Given the description of an element on the screen output the (x, y) to click on. 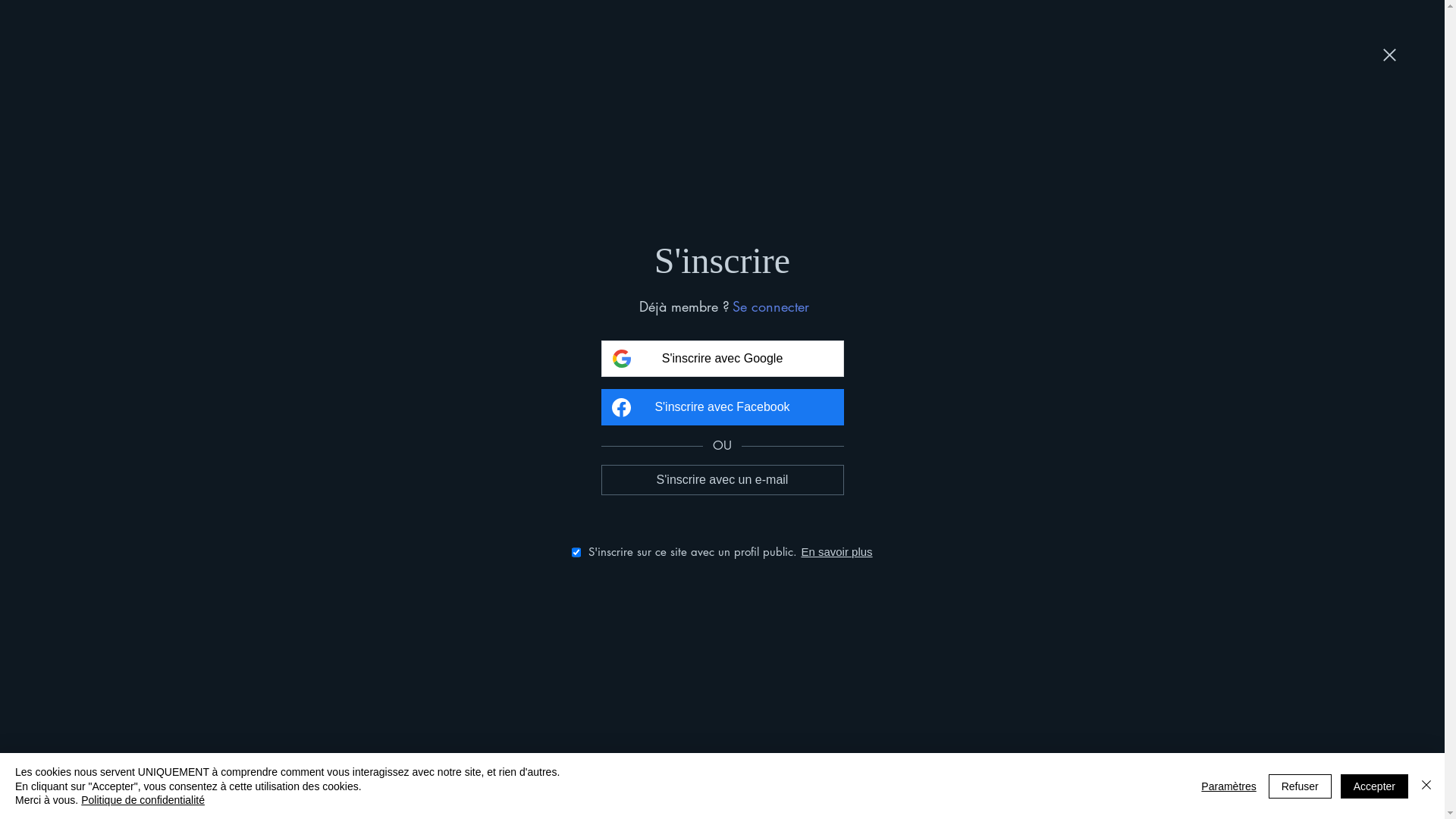
S'inscrire avec un e-mail Element type: text (721, 479)
Se connecter Element type: text (770, 306)
S'inscrire avec Facebook Element type: text (721, 407)
S'inscrire avec Google Element type: text (721, 358)
Accepter Element type: text (1374, 786)
Refuser Element type: text (1299, 786)
En savoir plus Element type: text (836, 551)
